Given the description of an element on the screen output the (x, y) to click on. 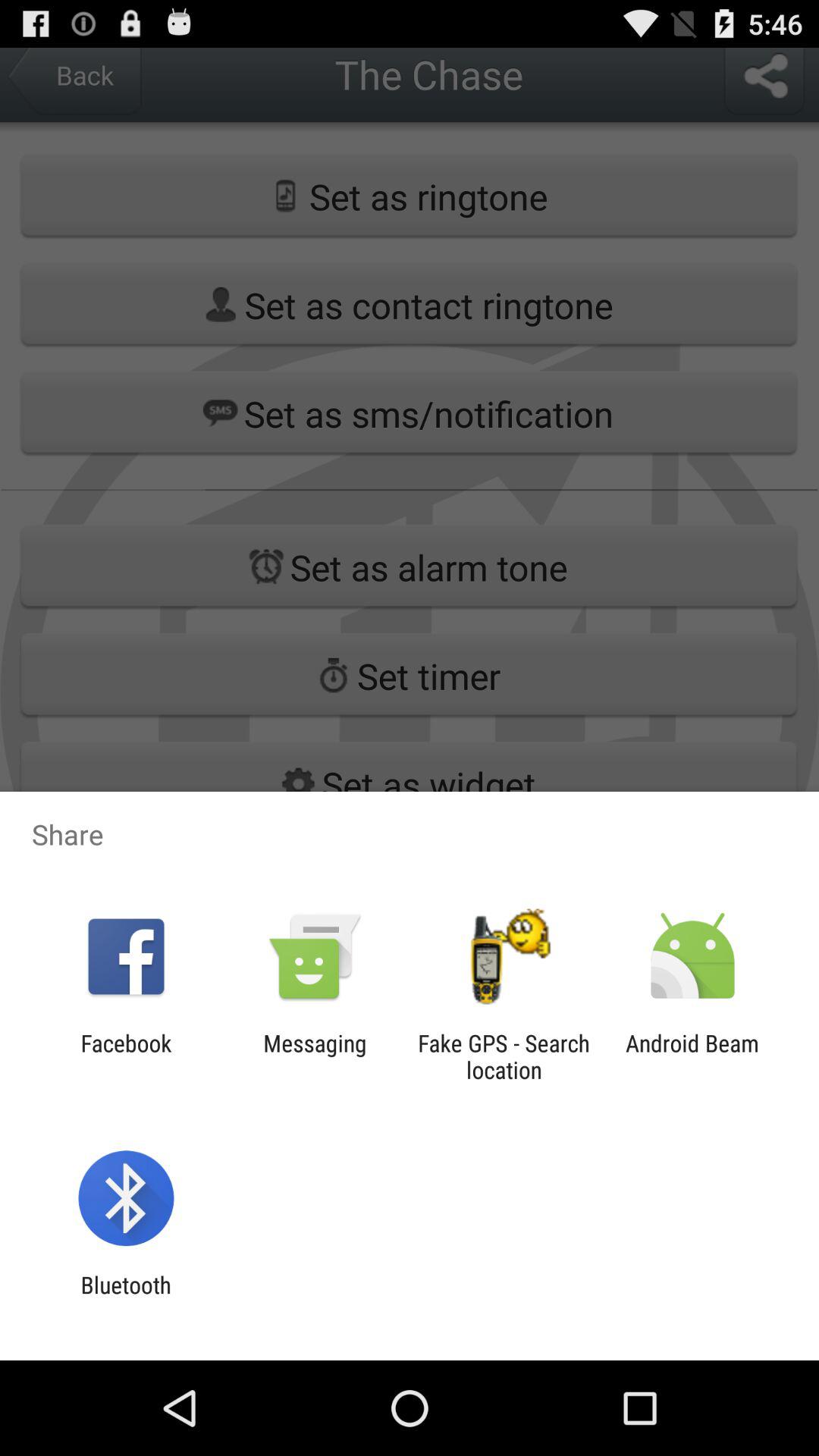
open item next to fake gps search app (692, 1056)
